Given the description of an element on the screen output the (x, y) to click on. 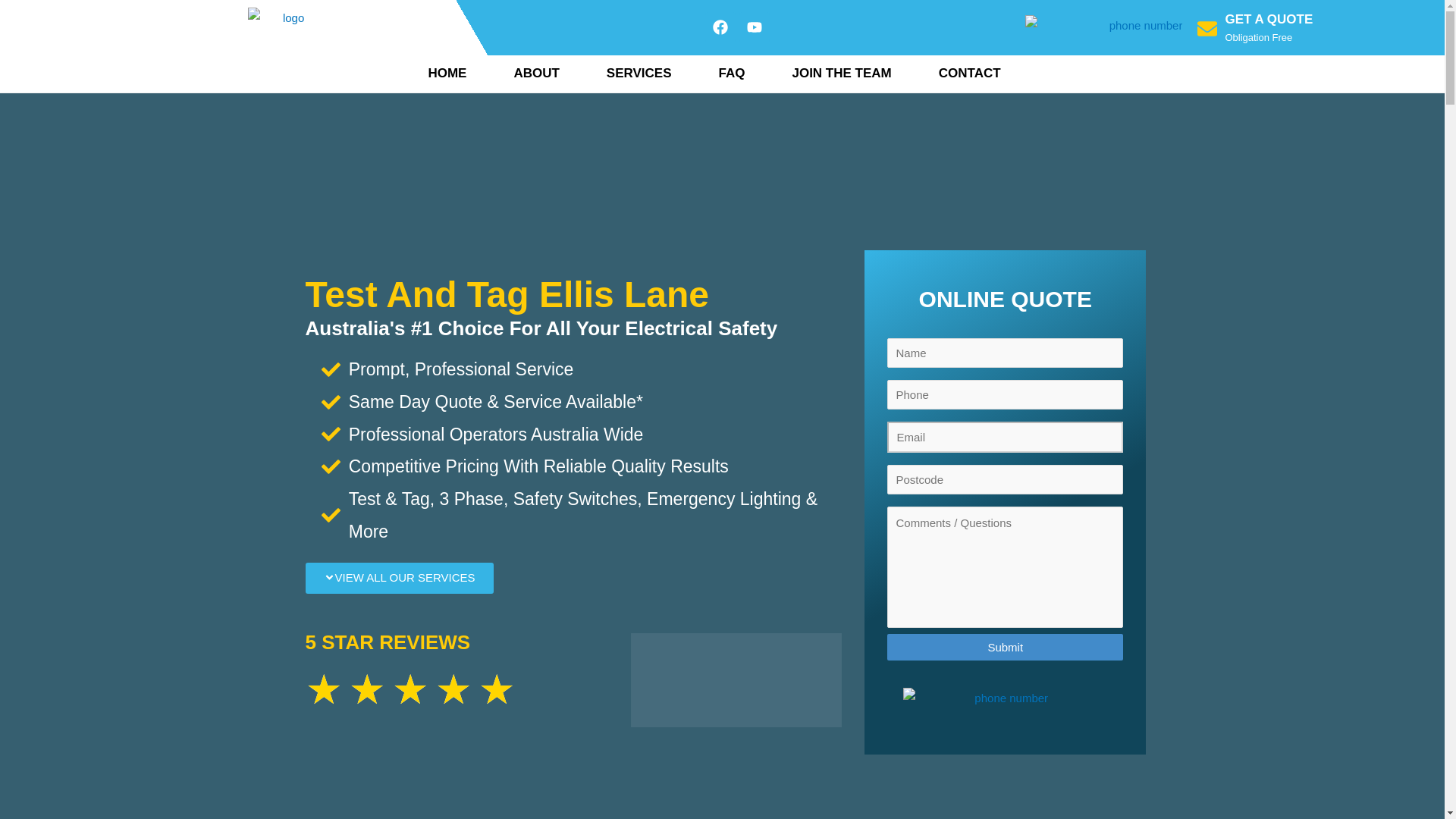
Facebook (719, 27)
Submit (1004, 646)
